Given the description of an element on the screen output the (x, y) to click on. 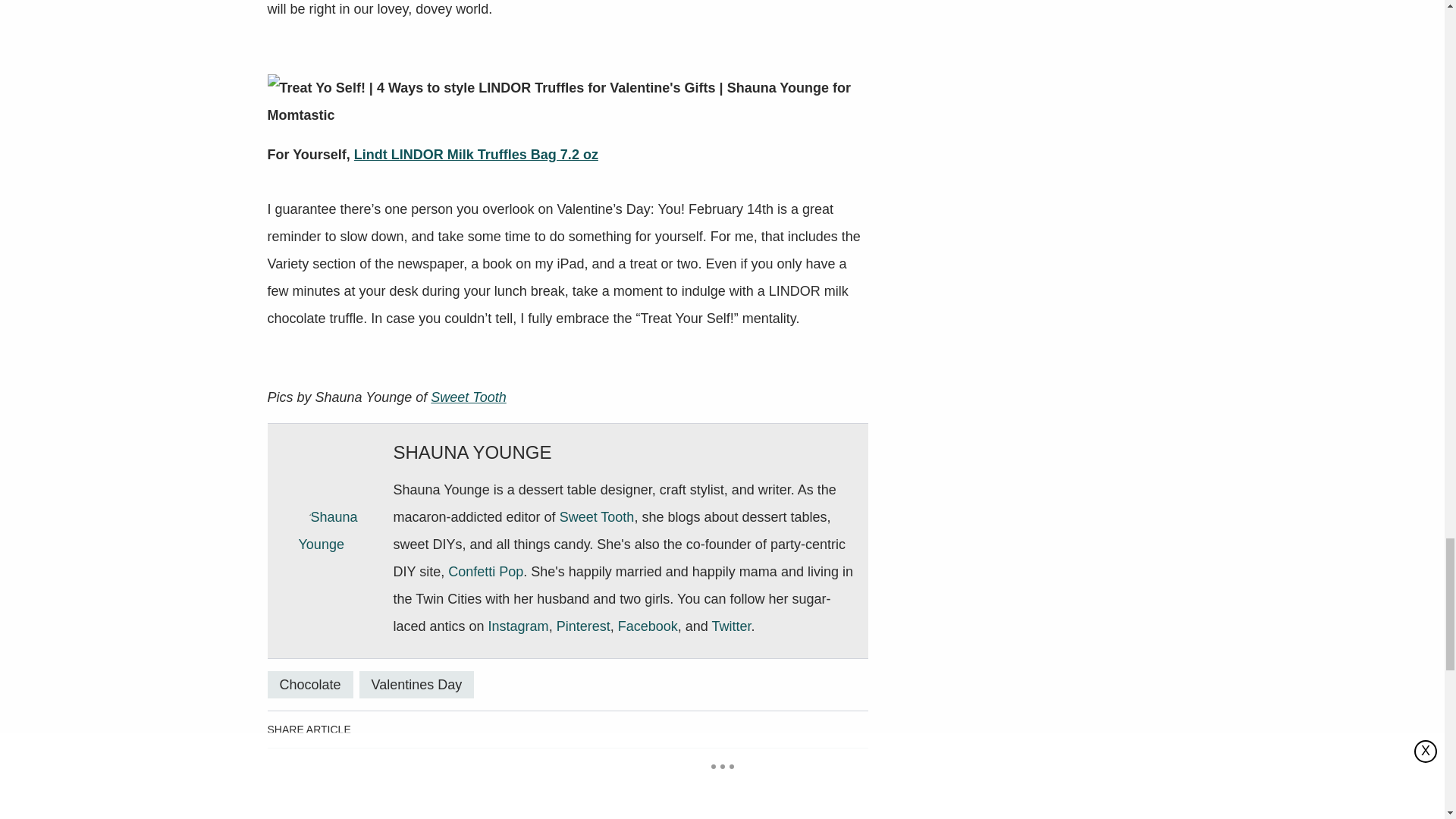
Lindt LINDOR Milk Truffles Bag 7.2 oz (475, 154)
Sweet Tooth (467, 396)
Sweet Tooth (596, 516)
SHAUNA YOUNGE (472, 452)
